Given the description of an element on the screen output the (x, y) to click on. 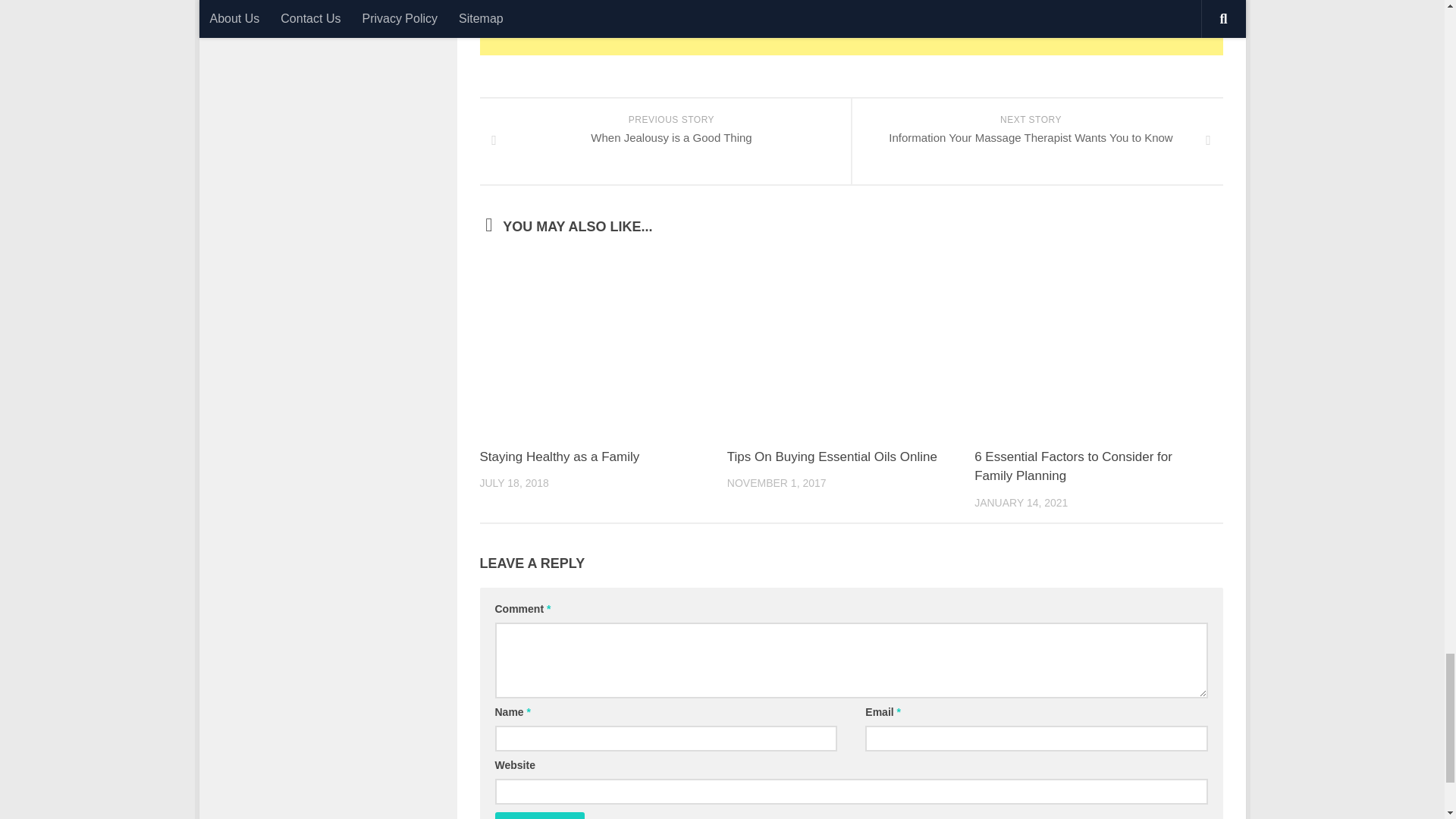
Post Comment (540, 815)
